Given the description of an element on the screen output the (x, y) to click on. 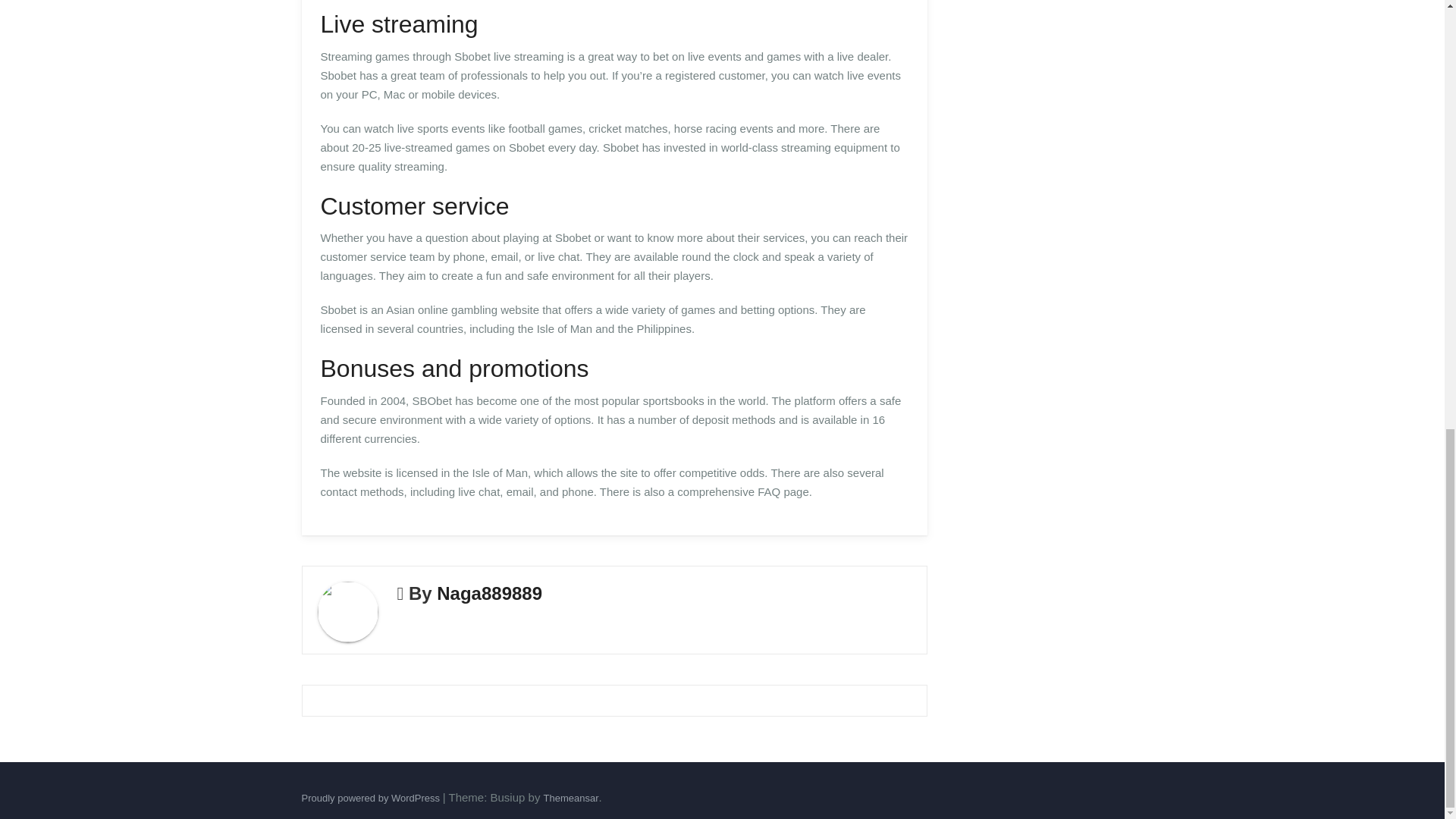
Proudly powered by WordPress (371, 797)
Naga889889 (488, 593)
Themeansar (570, 797)
